Given the description of an element on the screen output the (x, y) to click on. 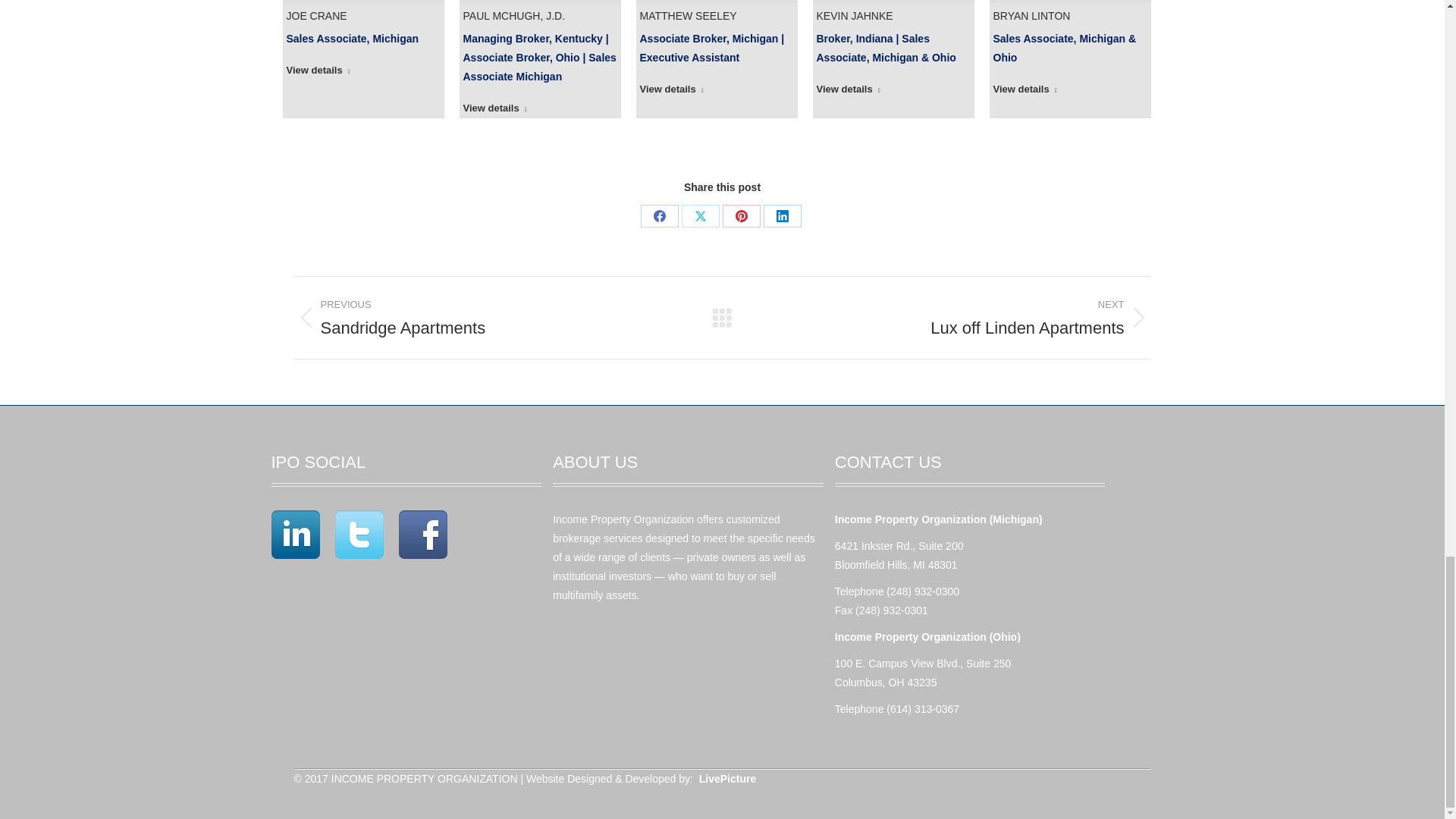
LinkedIn (781, 215)
X (700, 215)
Facebook (659, 215)
Pinterest (741, 215)
